Given the description of an element on the screen output the (x, y) to click on. 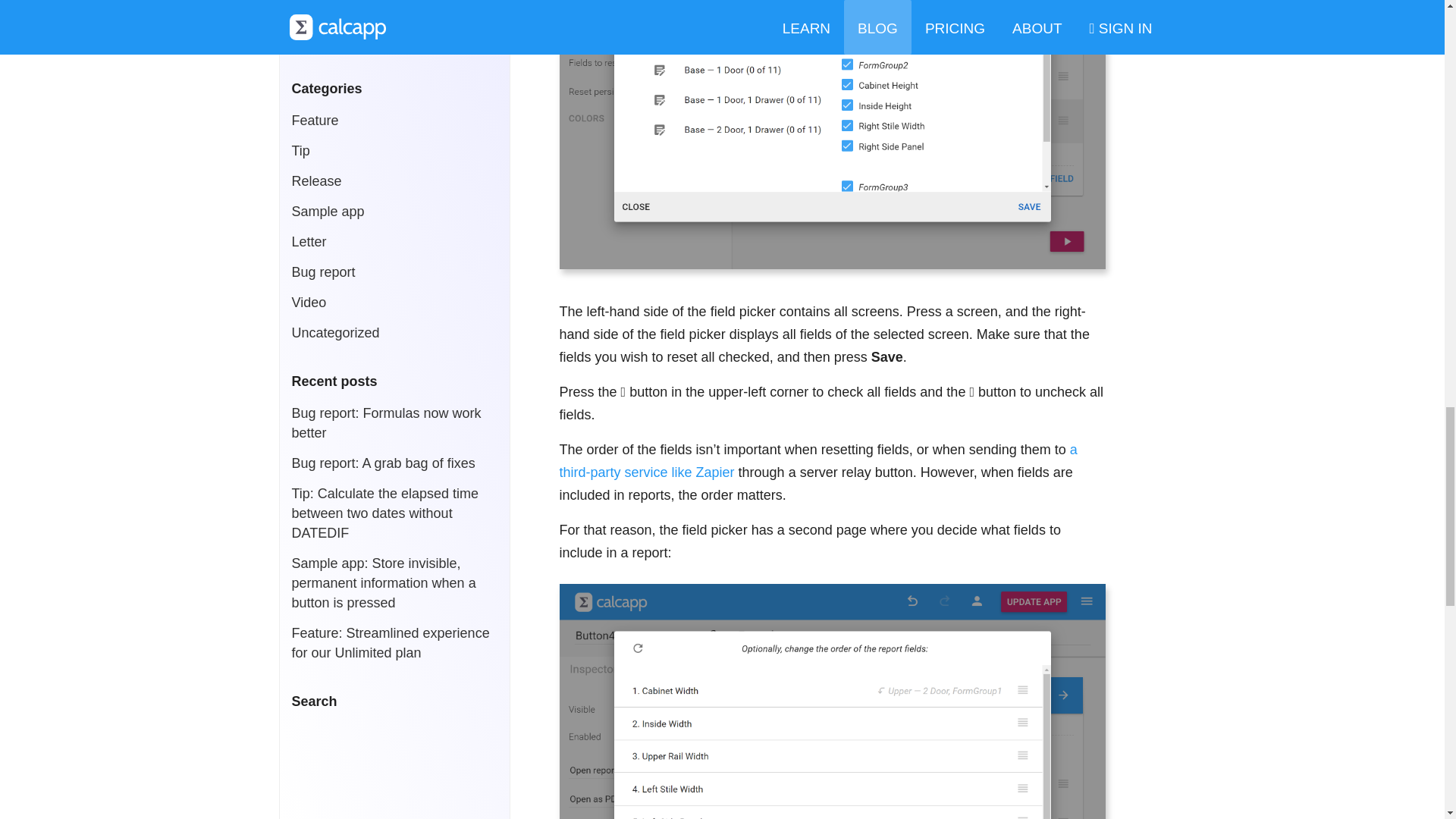
a third-party service like Zapier (818, 460)
